Given the description of an element on the screen output the (x, y) to click on. 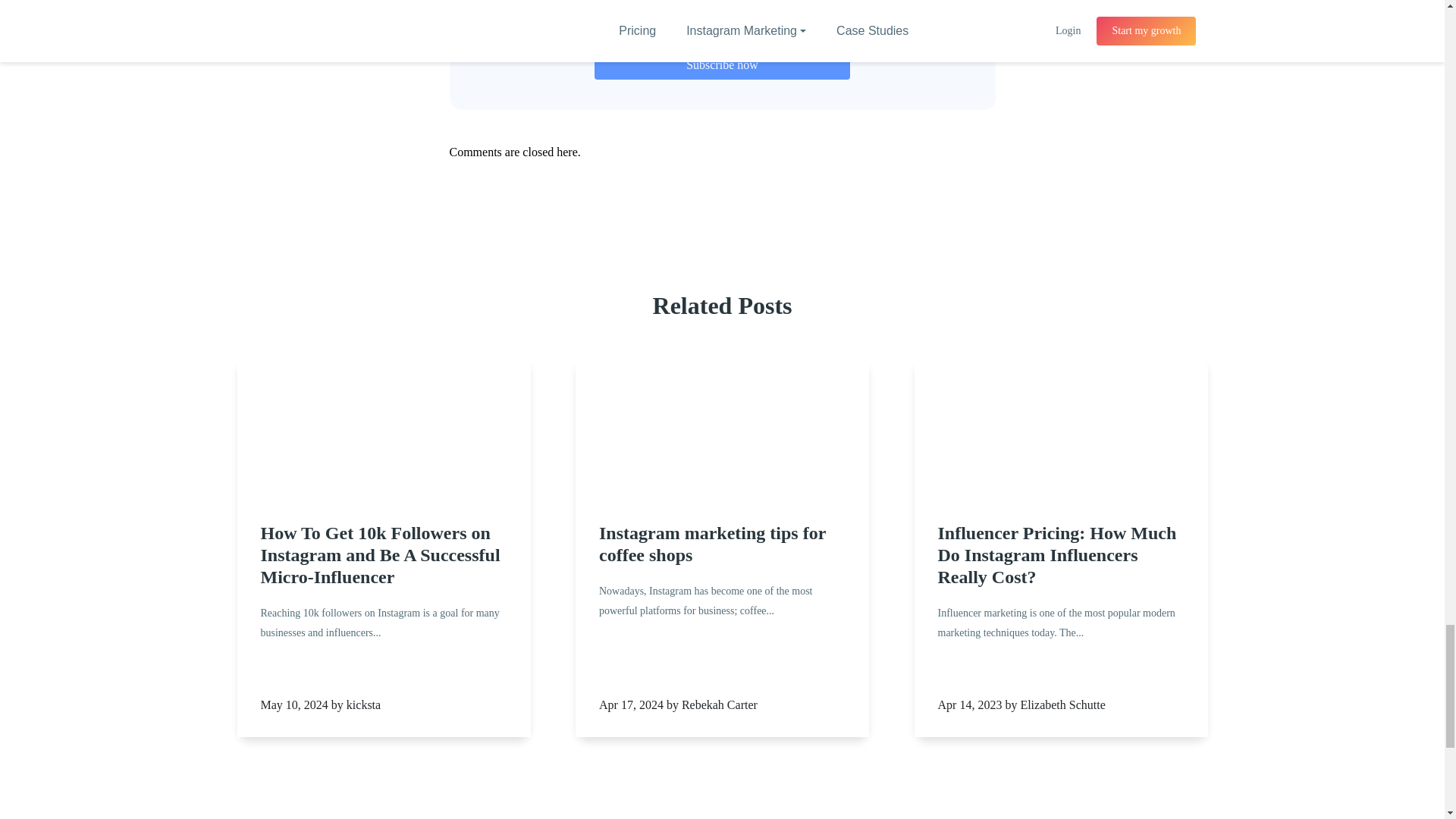
Subscribe now (722, 64)
Subscribe now (722, 64)
